Given the description of an element on the screen output the (x, y) to click on. 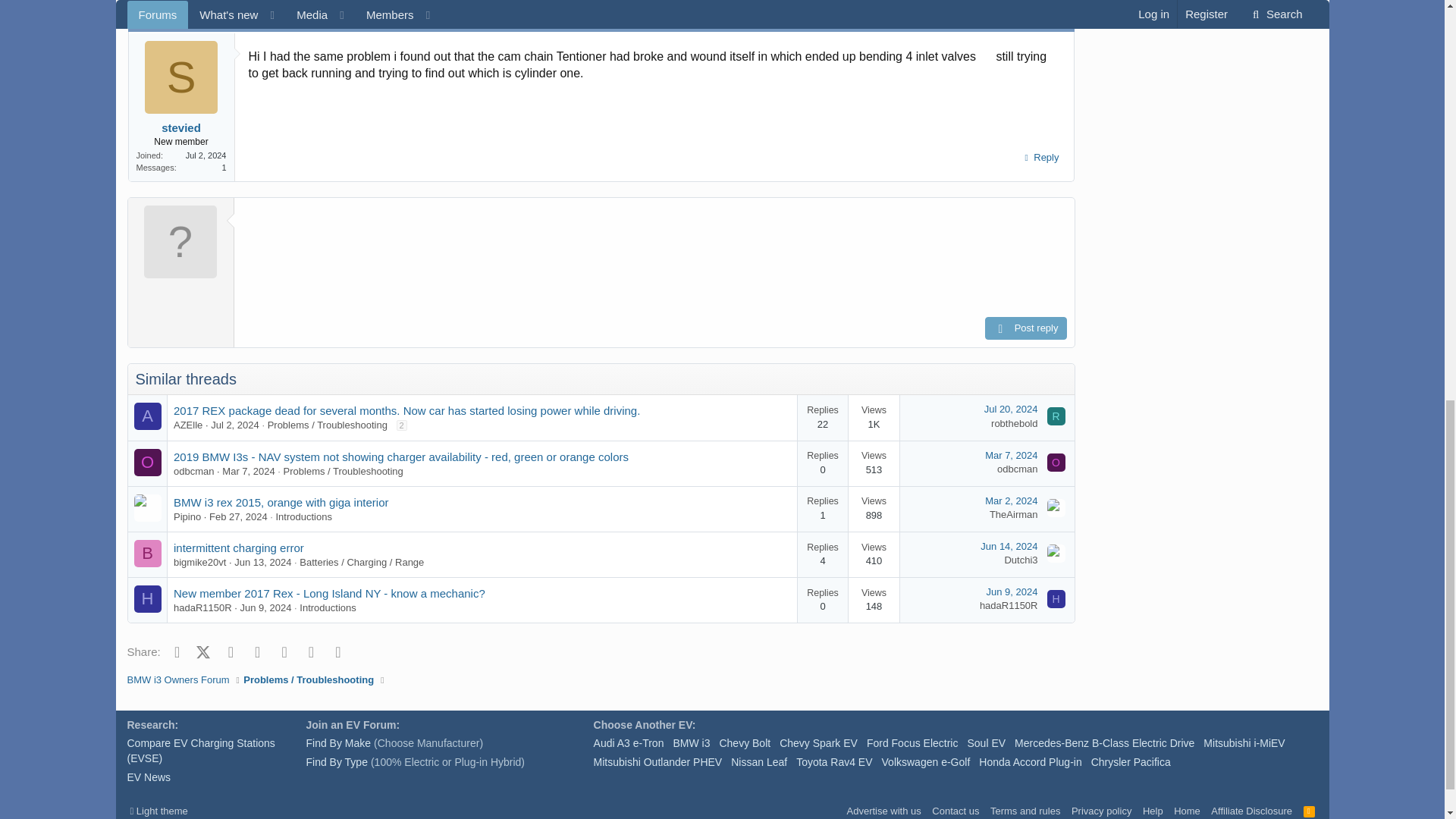
First message reaction score: 0 (848, 416)
Jul 20, 2024 at 10:40 PM (1011, 408)
First message reaction score: 0 (848, 463)
Reply, quoting this message (1039, 0)
Mar 7, 2024 at 5:46 PM (248, 471)
Reply, quoting this message (1039, 157)
Roll eyes    :rolleyes: (986, 54)
Jul 2, 2024 at 3:06 PM (235, 424)
Jul 2, 2024 at 1:53 AM (155, 22)
Mar 7, 2024 at 5:46 PM (1010, 454)
